Given the description of an element on the screen output the (x, y) to click on. 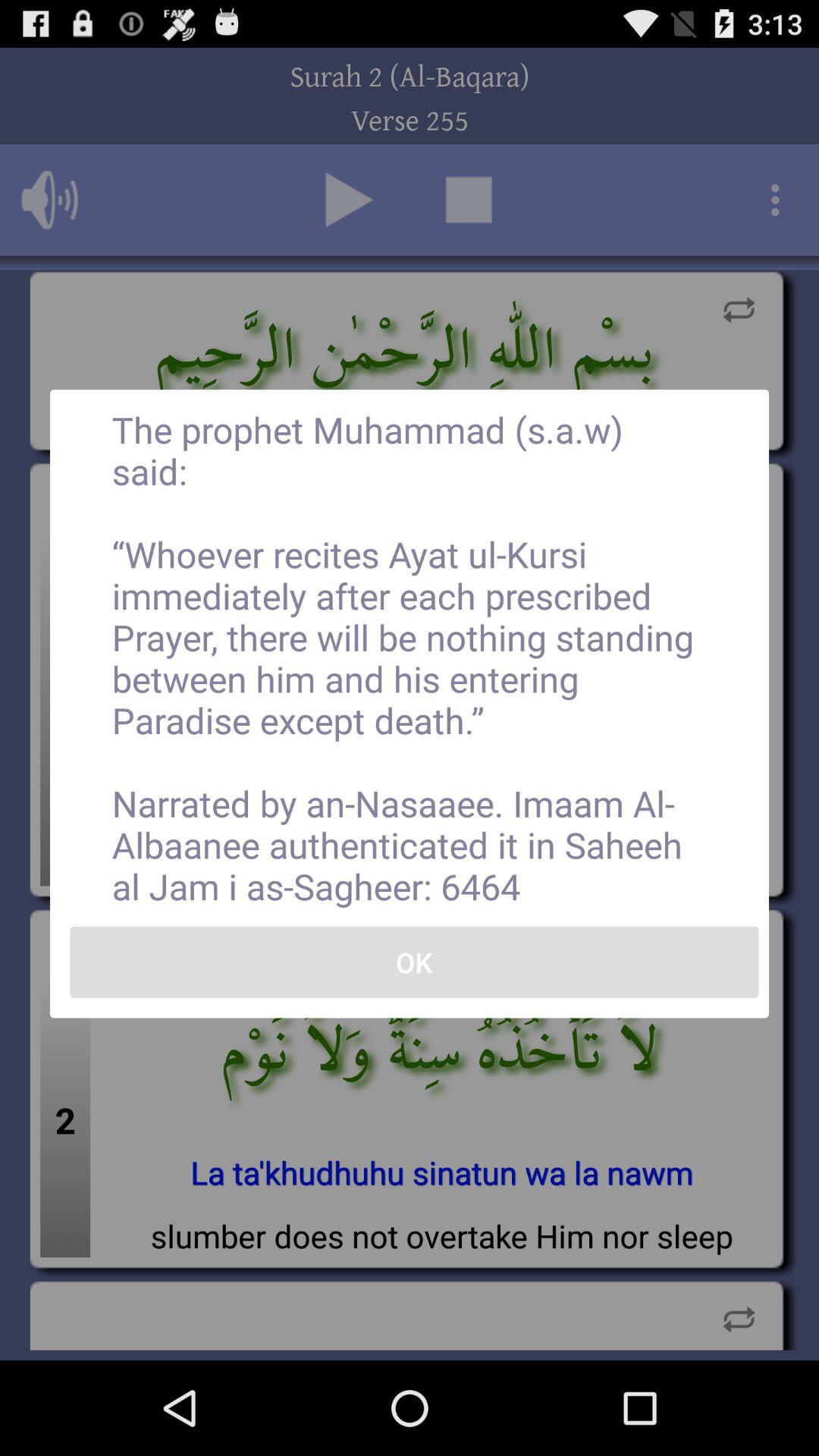
press ok item (413, 962)
